Given the description of an element on the screen output the (x, y) to click on. 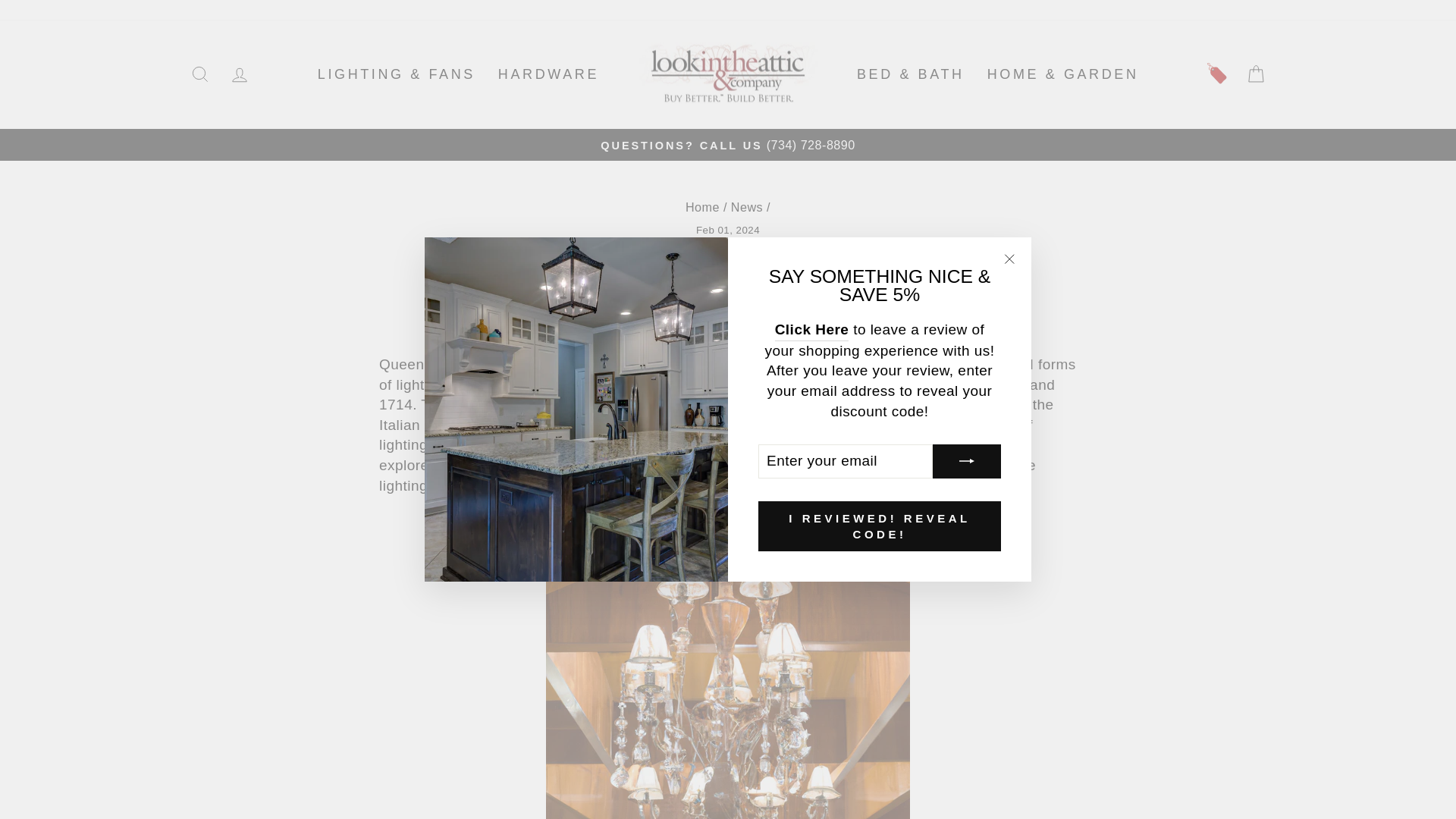
Back to the frontpage (702, 206)
